Given the description of an element on the screen output the (x, y) to click on. 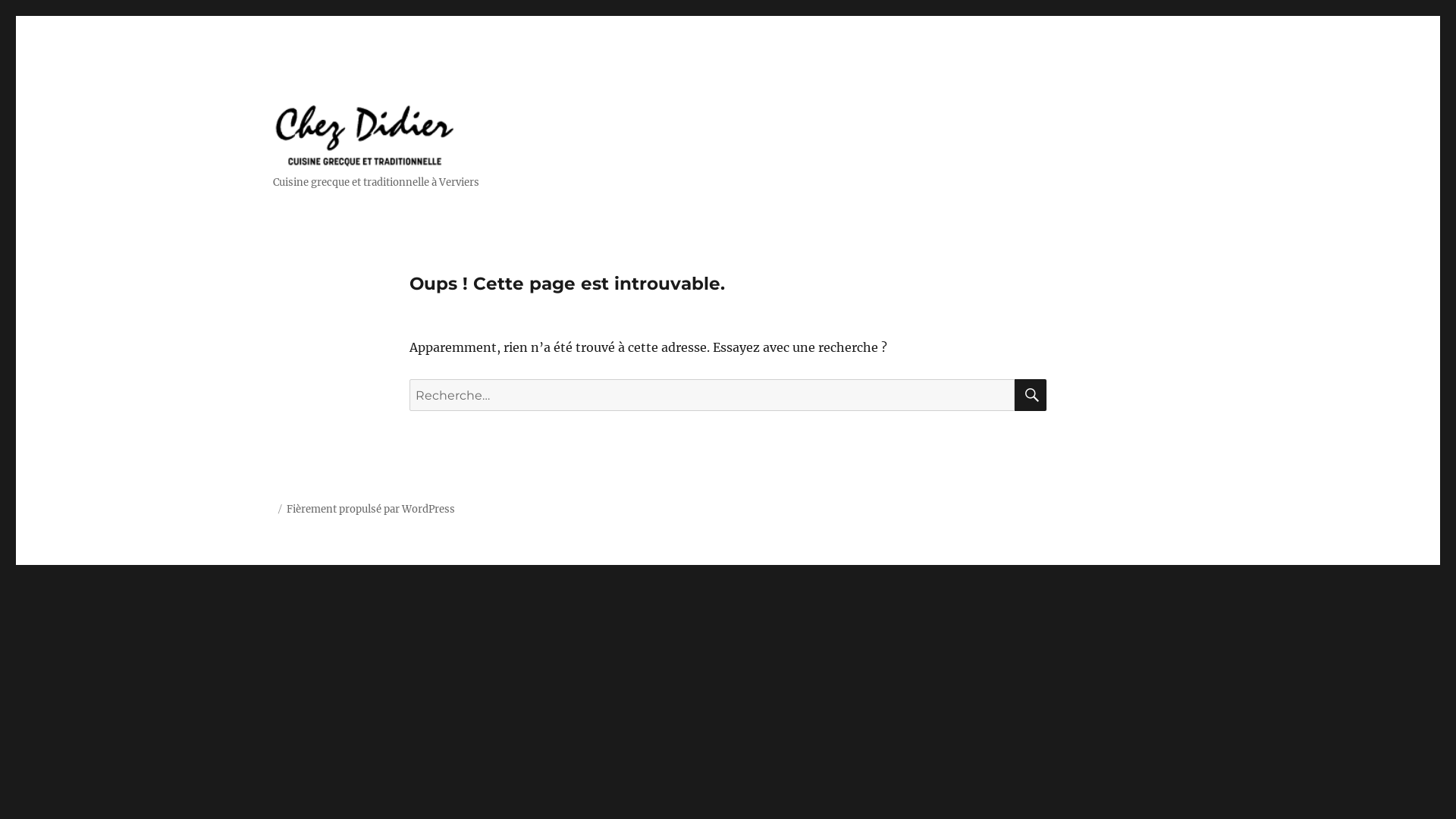
RECHERCHE Element type: text (1030, 395)
